Given the description of an element on the screen output the (x, y) to click on. 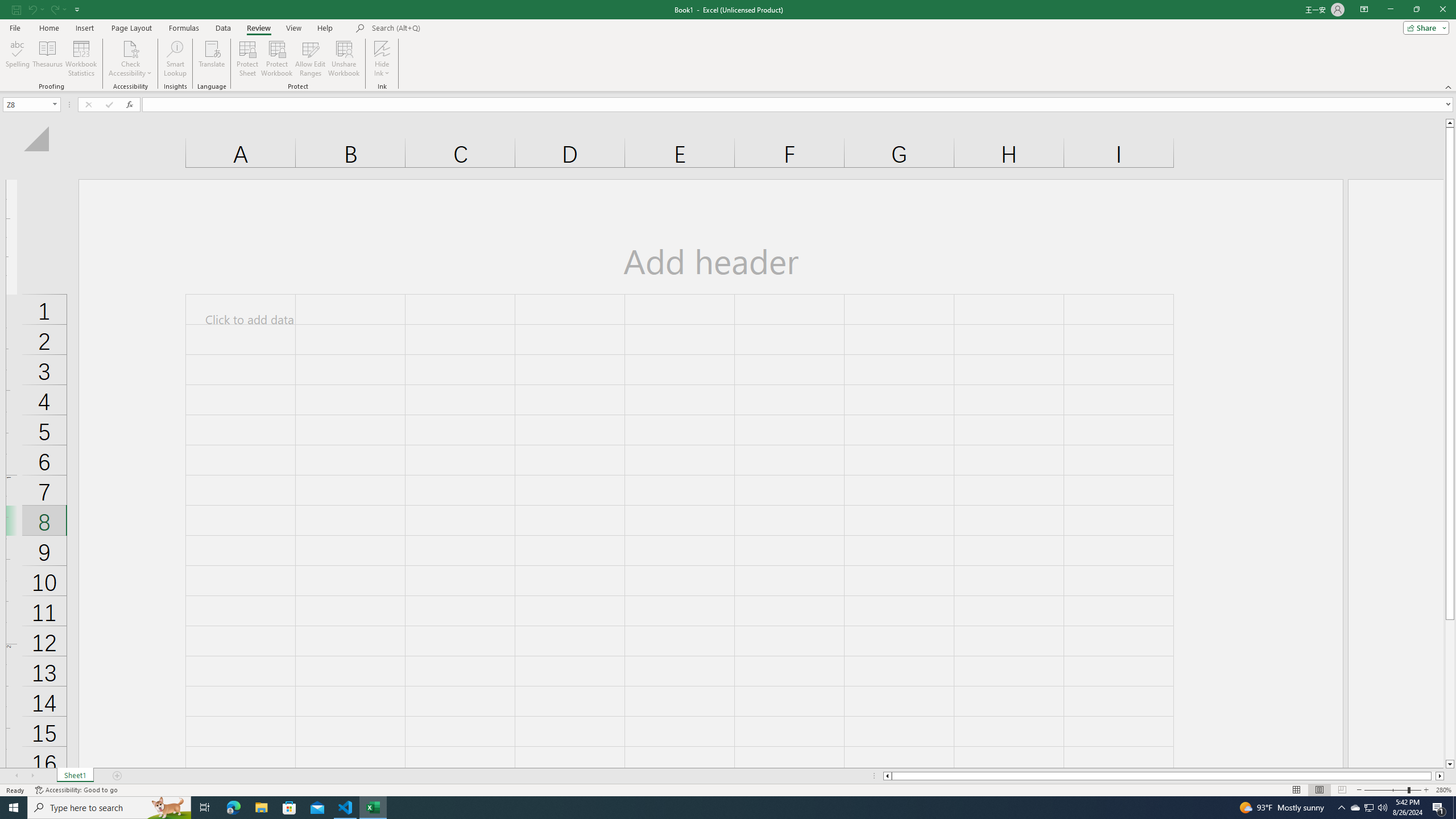
Smart Lookup (175, 58)
Hide Ink (381, 48)
Restore Down (1416, 9)
Class: MsoCommandBar (728, 45)
Protect Sheet... (247, 58)
